Given the description of an element on the screen output the (x, y) to click on. 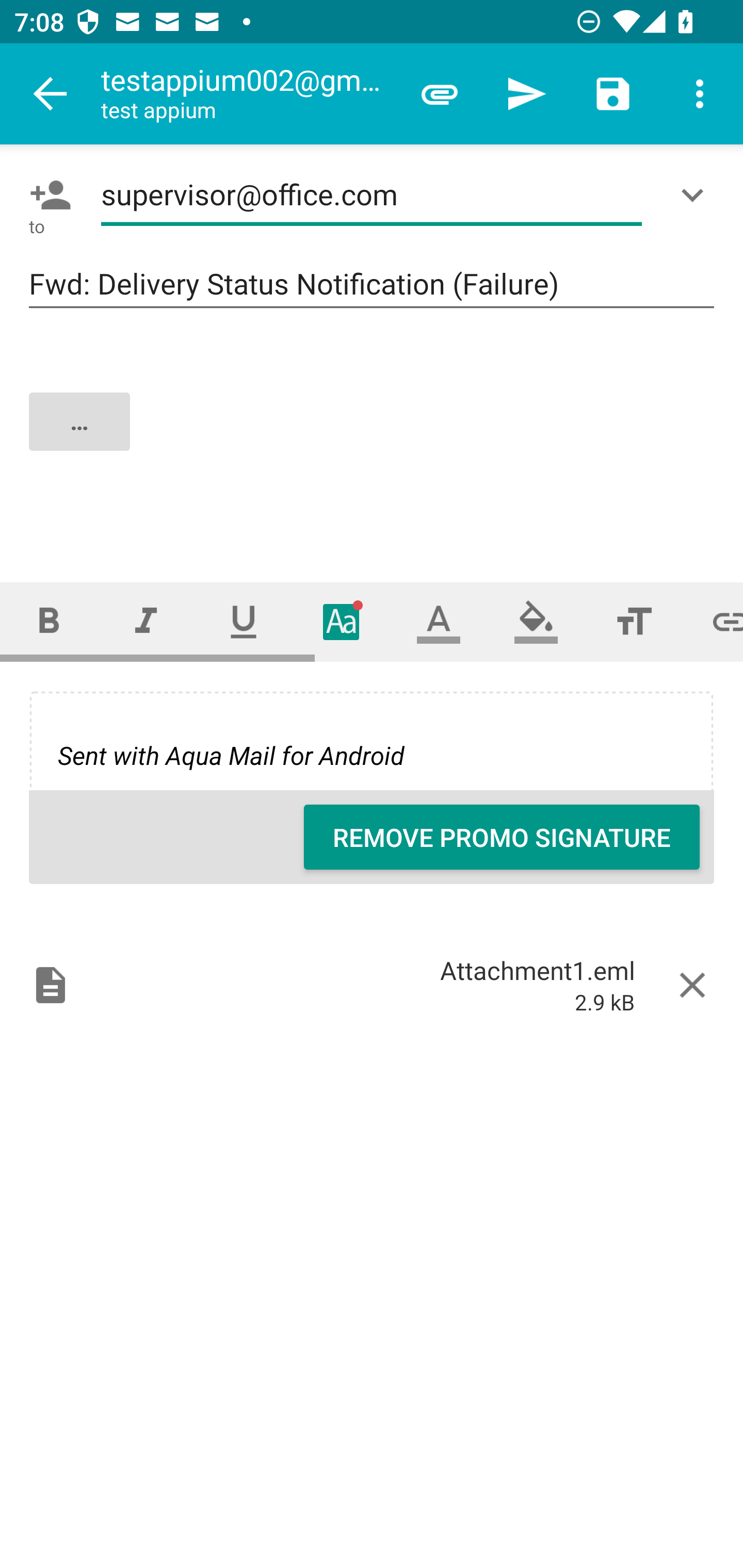
Navigate up (50, 93)
testappium002@gmail.com test appium (248, 93)
Attach (439, 93)
Send (525, 93)
Save (612, 93)
More options (699, 93)
Pick contact: To (46, 195)
Show/Add CC/BCC (696, 195)
supervisor@office.com (371, 195)
Fwd: Delivery Status Notification (Failure) (371, 284)

…
 (372, 438)
Bold (48, 621)
Italic (145, 621)
Underline (243, 621)
Typeface (font) (341, 621)
Text color (438, 621)
Fill color (536, 621)
Font size (633, 621)
REMOVE PROMO SIGNATURE (501, 837)
Attachment1.eml 2.9 kB Delete (371, 984)
Delete (692, 984)
